Given the description of an element on the screen output the (x, y) to click on. 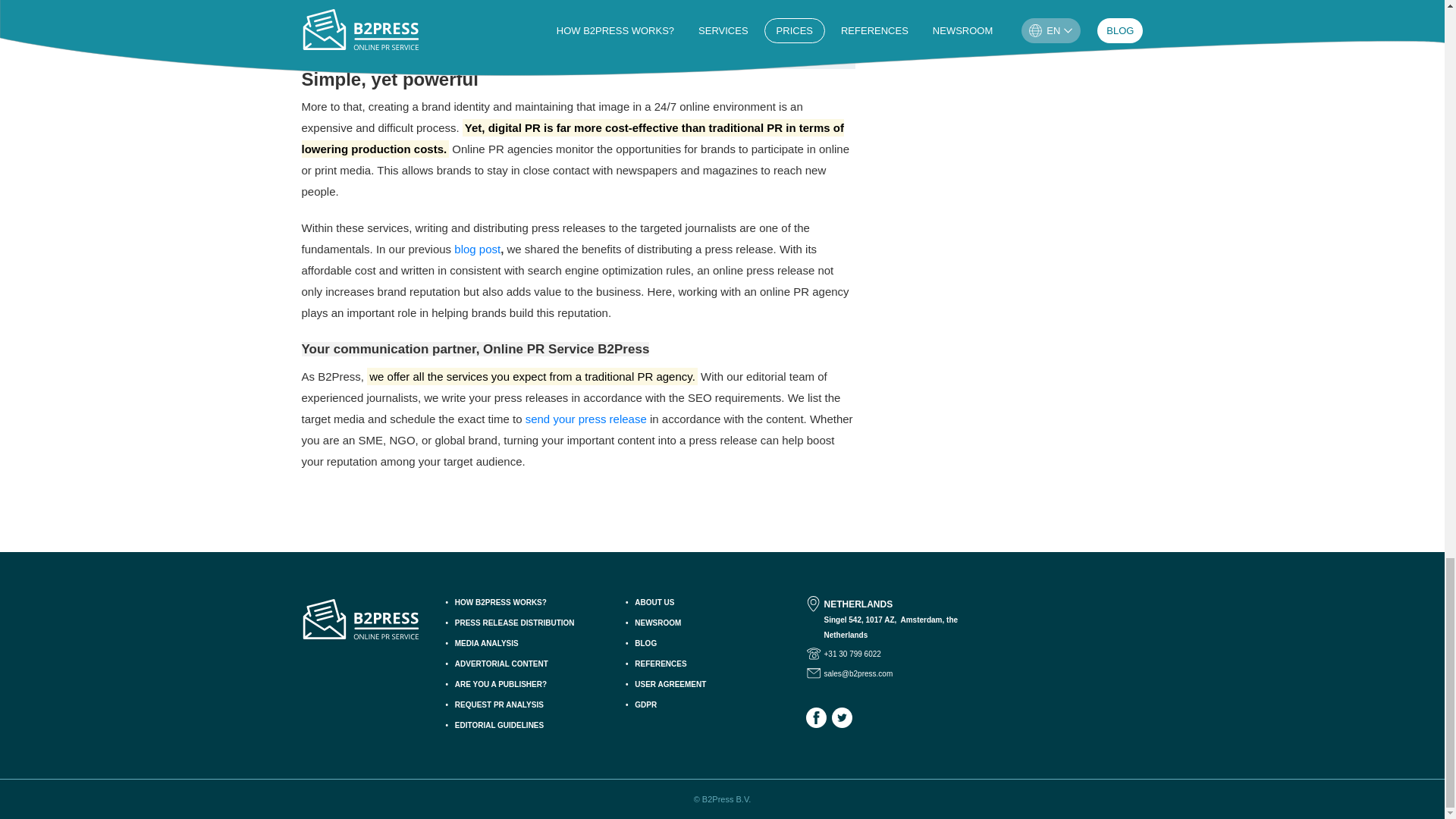
ARE YOU A PUBLISHER? (529, 684)
blog post (477, 248)
MEDIA ANALYSIS (529, 643)
PRESS RELEASE DISTRIBUTION (529, 623)
HOW B2PRESS WORKS? (529, 602)
ADVERTORIAL CONTENT (529, 664)
send your press release (585, 418)
